Given the description of an element on the screen output the (x, y) to click on. 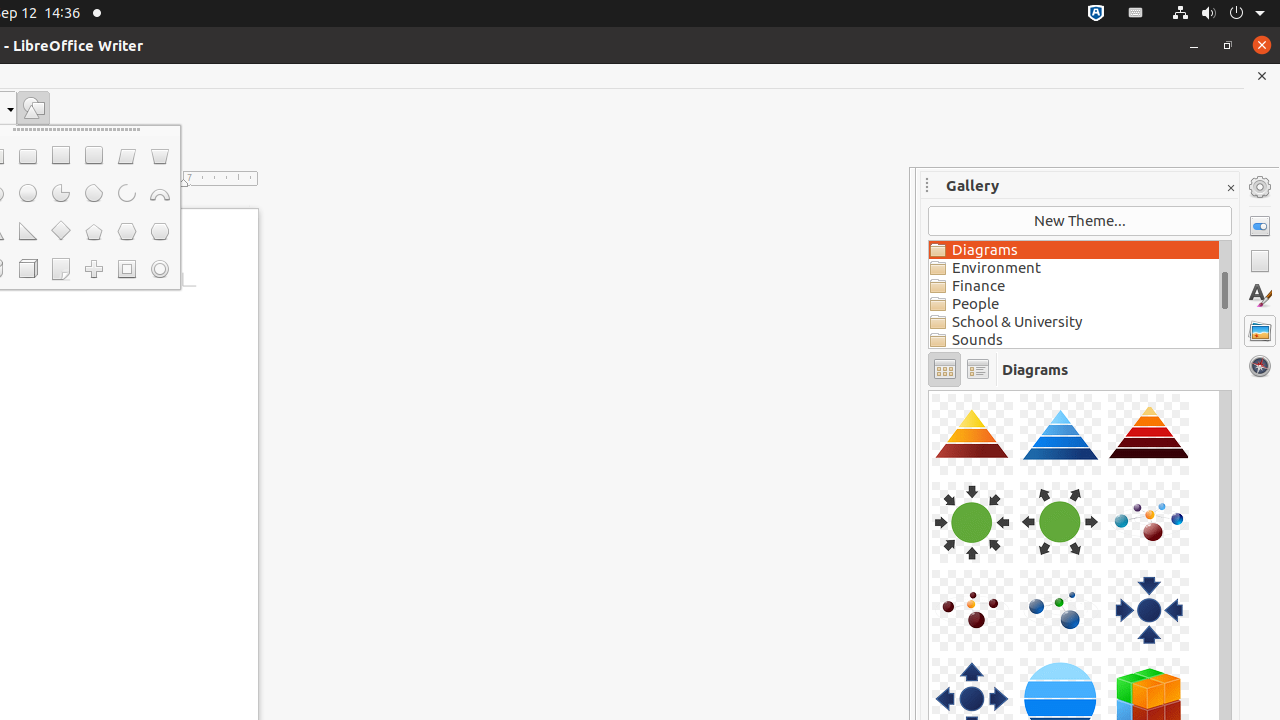
Diamond Element type: toggle-button (60, 231)
Environment Element type: list-item (1074, 268)
Trapezoid Element type: toggle-button (159, 155)
Cross Element type: toggle-button (93, 269)
:1.72/StatusNotifierItem Element type: menu (1096, 13)
